Given the description of an element on the screen output the (x, y) to click on. 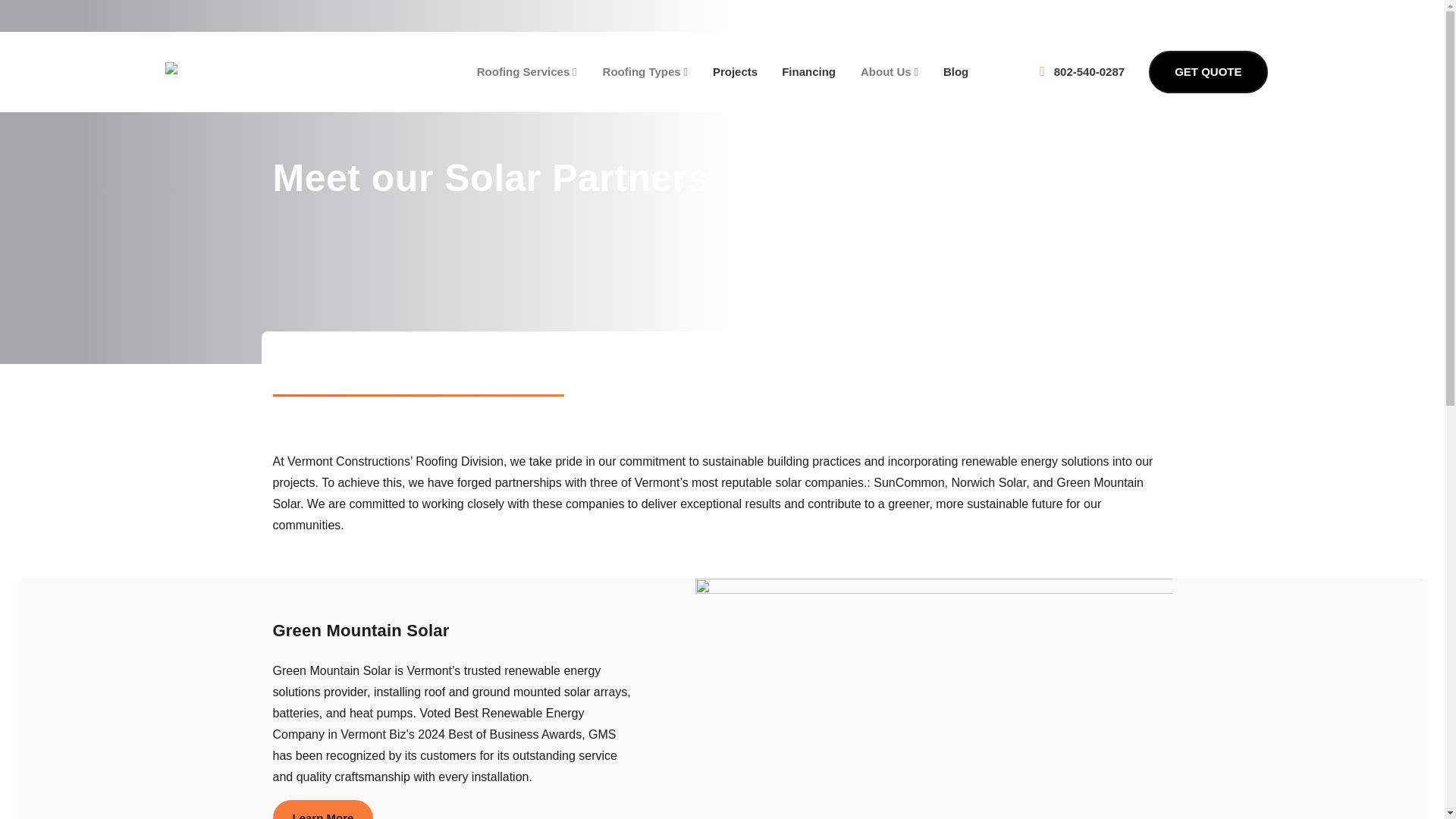
Financing (808, 71)
Financing (808, 71)
Skip to content (1435, 4)
About Us (889, 71)
About Us (889, 71)
802-540-0287 (1081, 71)
GET QUOTE (1207, 71)
Roofing Services (527, 71)
Blog (955, 71)
Learn More (323, 809)
